Given the description of an element on the screen output the (x, y) to click on. 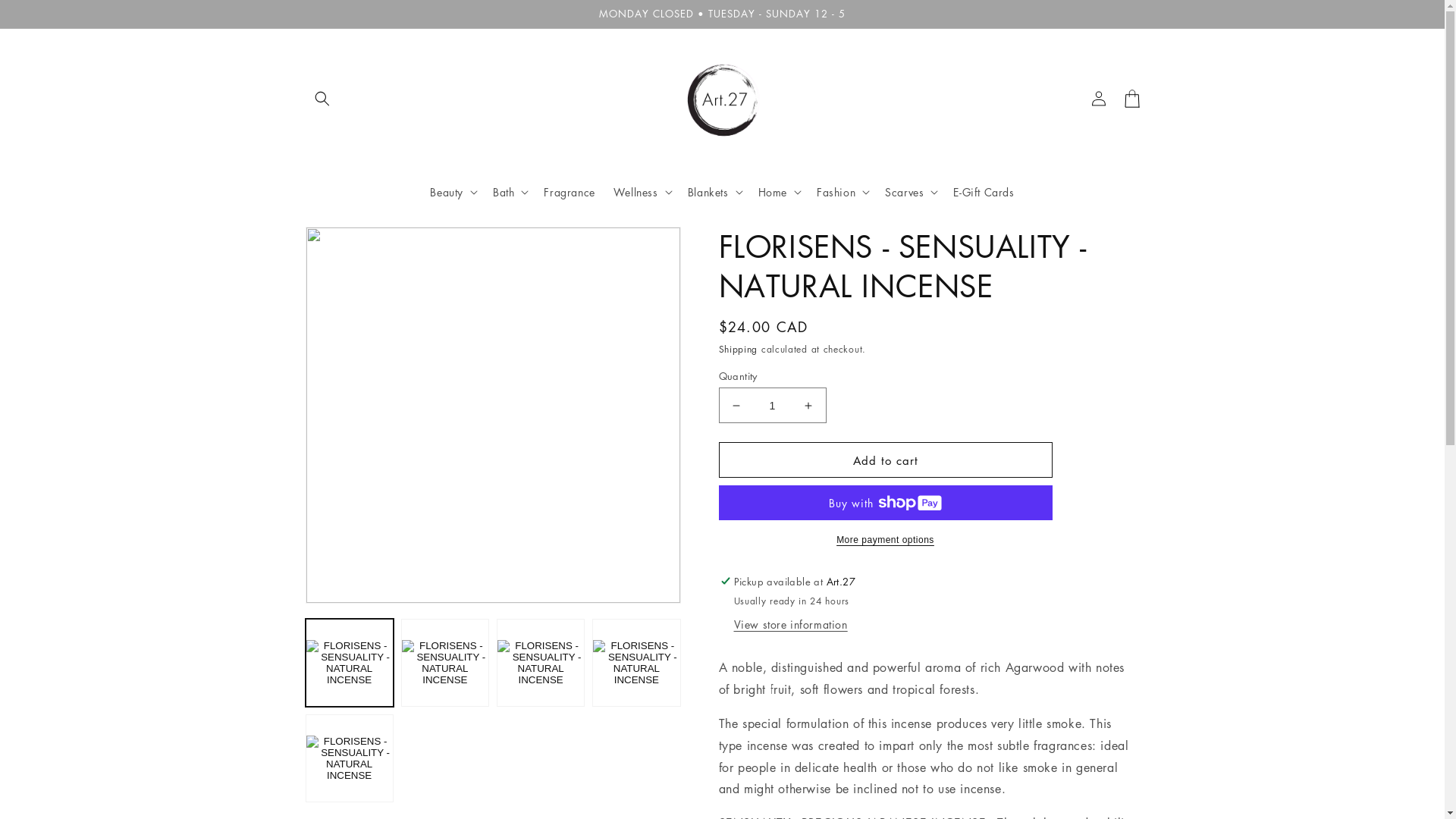
Skip to product information Element type: text (350, 243)
Shipping Element type: text (738, 348)
E-Gift Cards Element type: text (983, 191)
Fragrance Element type: text (568, 191)
Log in Element type: text (1097, 98)
Add to cart Element type: text (885, 459)
More payment options Element type: text (885, 539)
View store information Element type: text (790, 624)
Cart Element type: text (1131, 98)
